Given the description of an element on the screen output the (x, y) to click on. 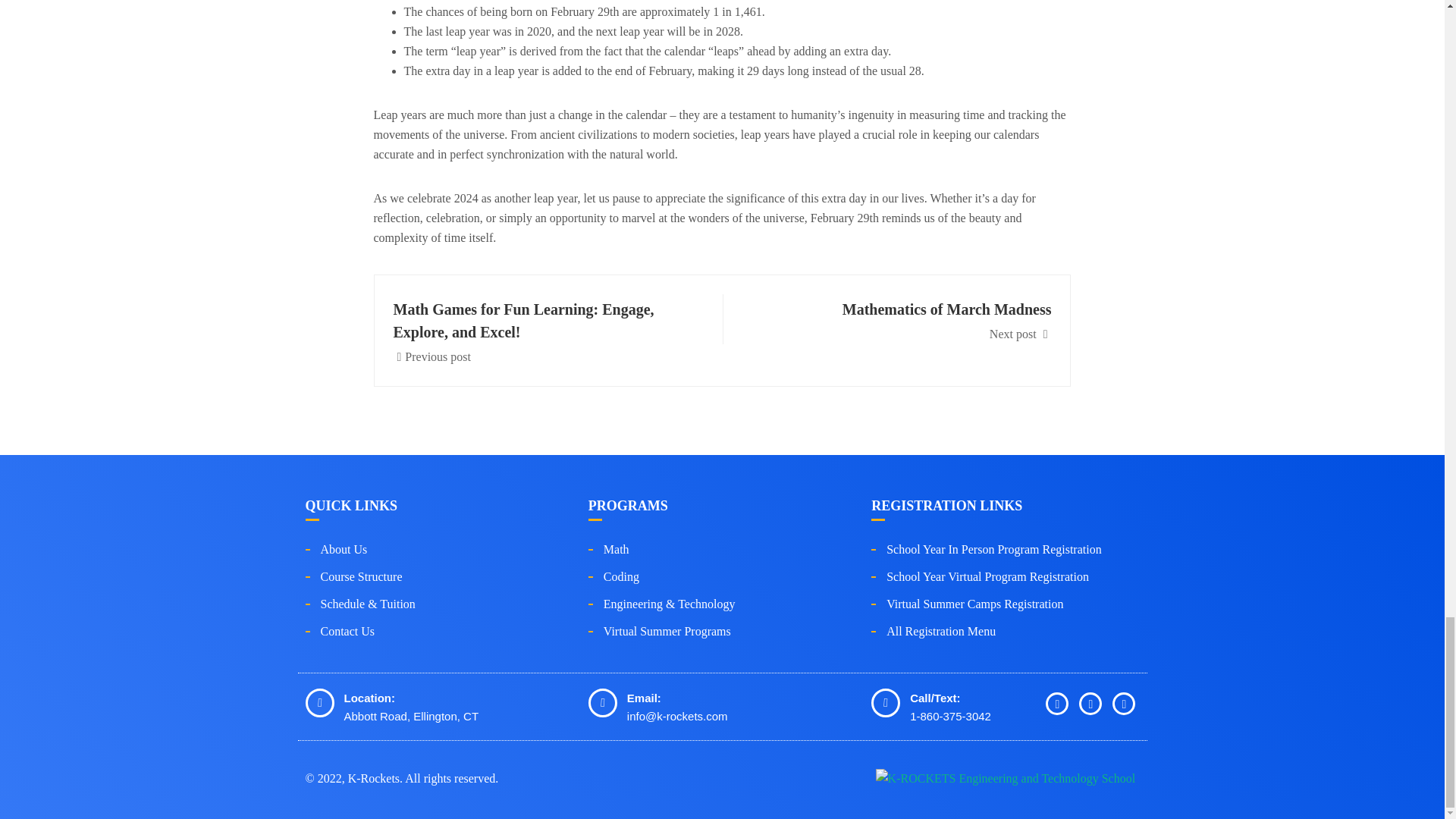
Contact Us (347, 631)
About Us (343, 549)
Math (616, 549)
Course Structure (360, 576)
